Given the description of an element on the screen output the (x, y) to click on. 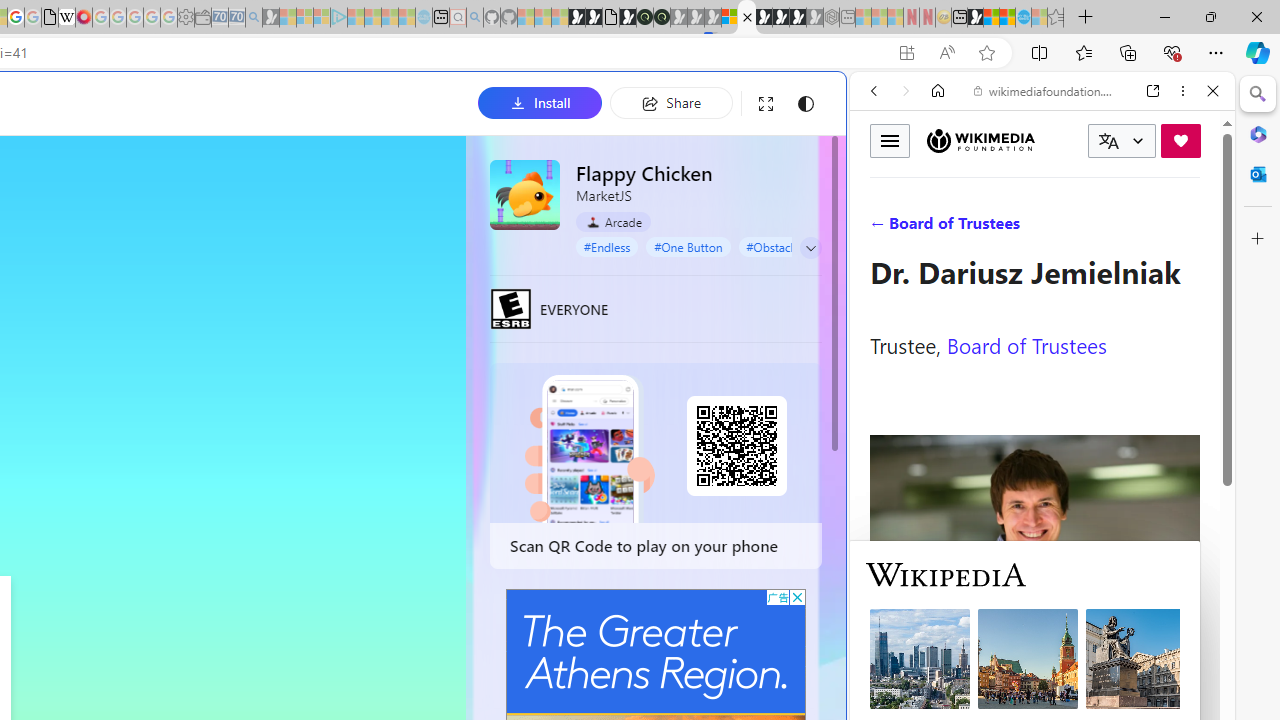
Target page - Wikipedia (66, 17)
Search the web (1051, 137)
github - Search - Sleeping (474, 17)
VIDEOS (1006, 228)
Search Filter, IMAGES (939, 228)
Sign in to your account (729, 17)
Home | Sky Blue Bikes - Sky Blue Bikes (687, 426)
